Given the description of an element on the screen output the (x, y) to click on. 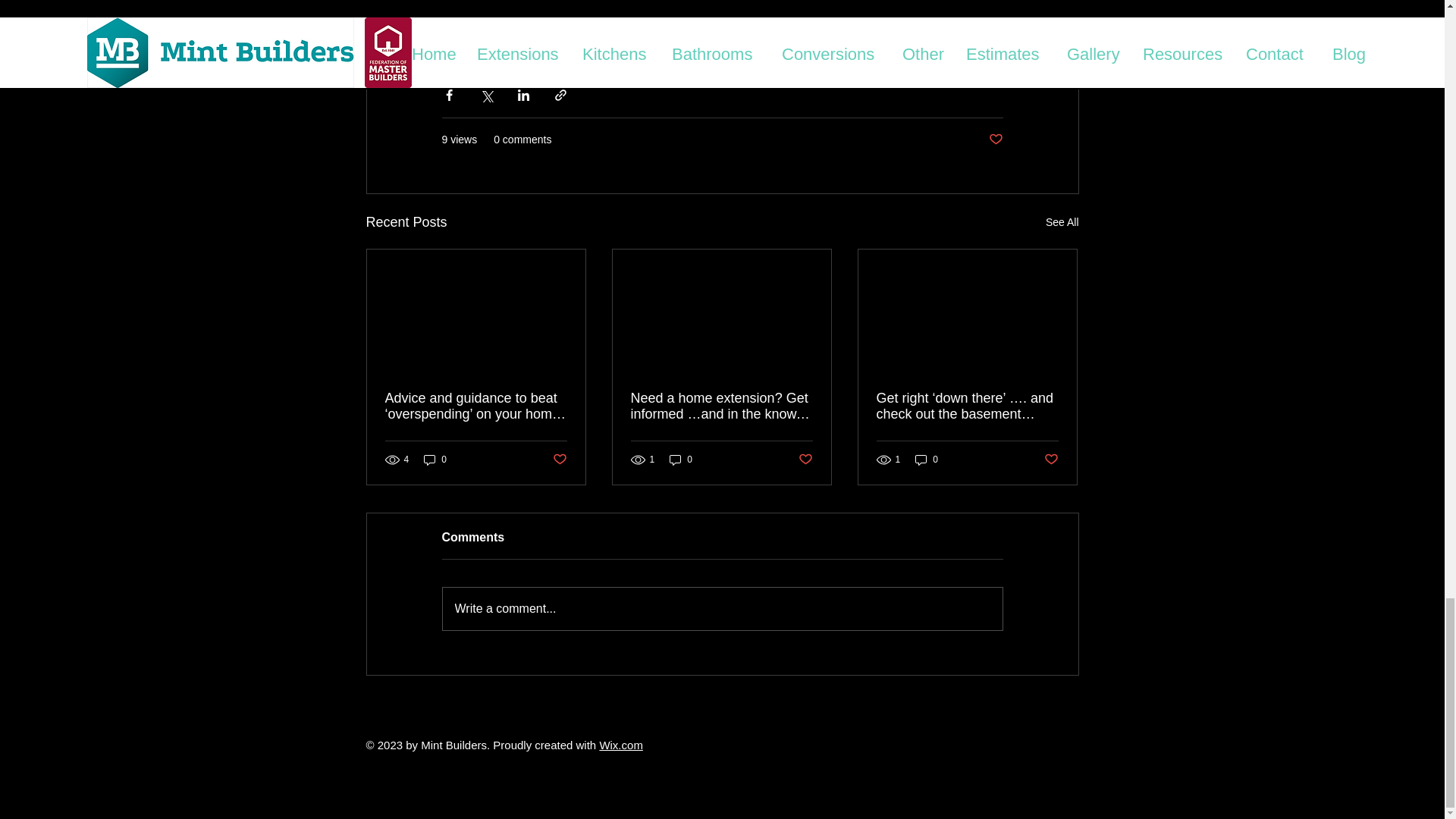
Post not marked as liked (804, 458)
0 (926, 459)
Post not marked as liked (1050, 458)
0 (681, 459)
Post not marked as liked (558, 458)
0 (435, 459)
Post not marked as liked (995, 139)
See All (1061, 222)
